Given the description of an element on the screen output the (x, y) to click on. 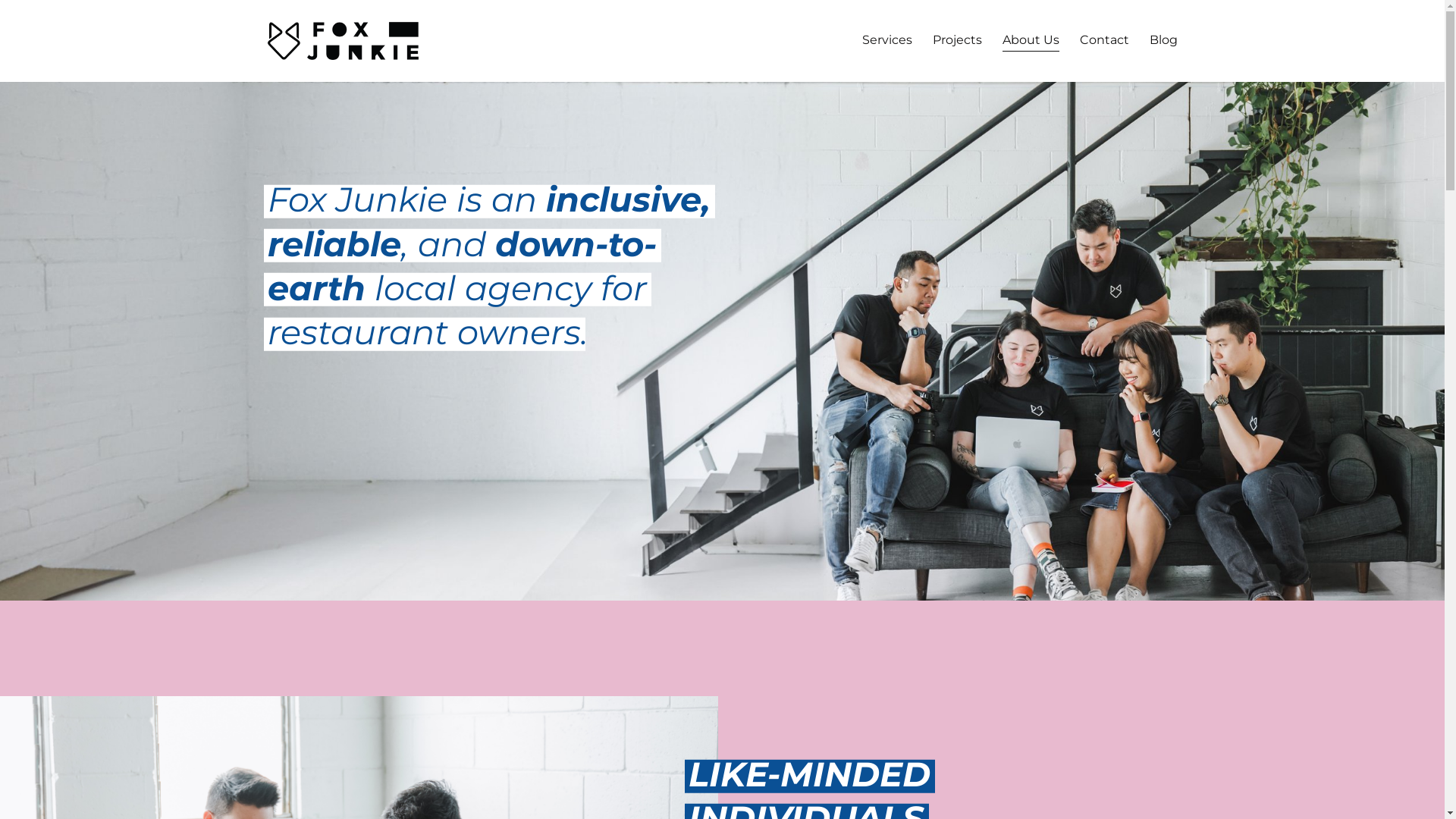
Blog Element type: text (1163, 40)
Projects Element type: text (957, 40)
About Us Element type: text (1030, 40)
Contact Element type: text (1104, 40)
Services Element type: text (887, 40)
